Given the description of an element on the screen output the (x, y) to click on. 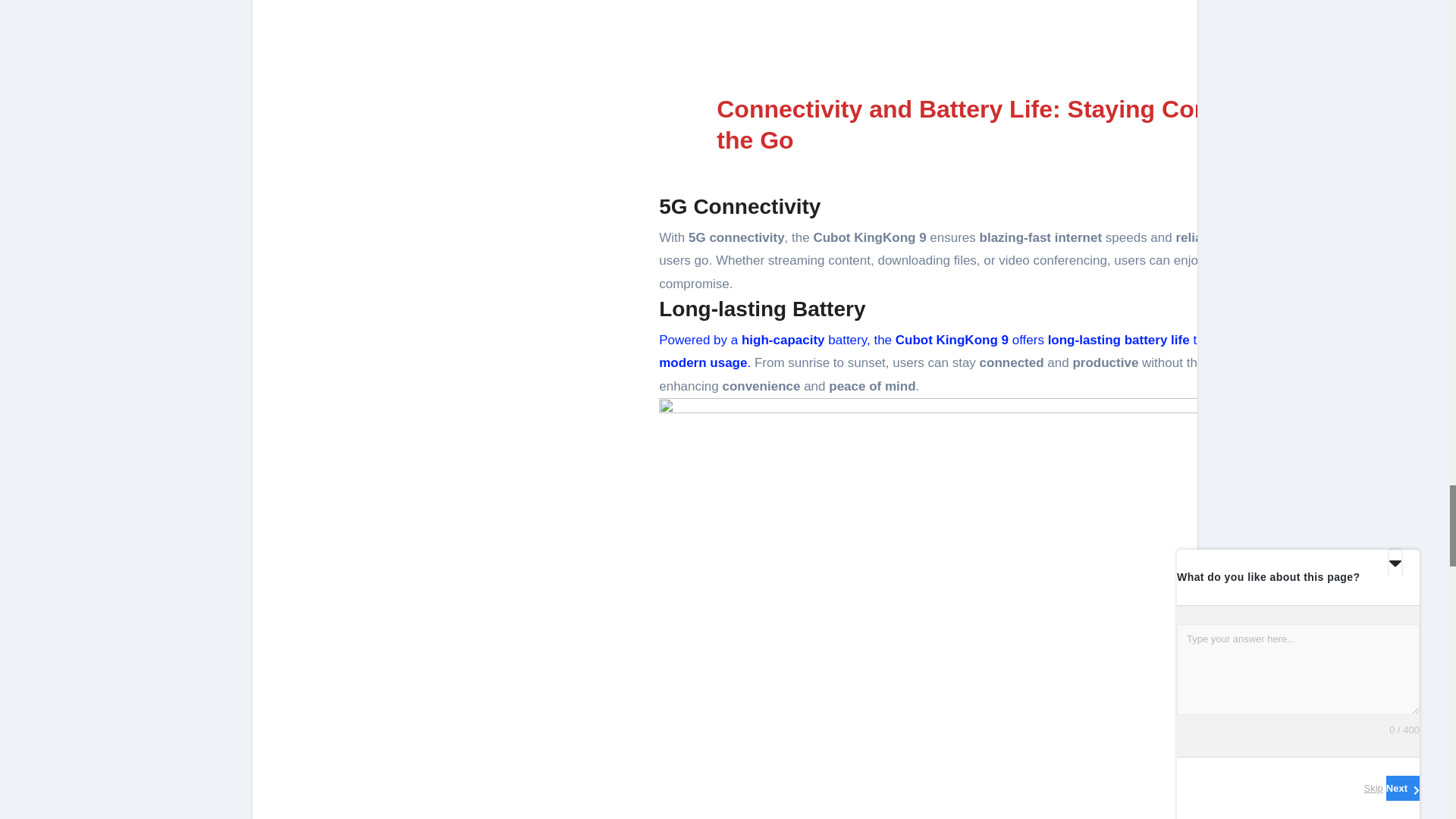
Connectivity and Battery Life: Staying Connected on the Go (1019, 124)
